Given the description of an element on the screen output the (x, y) to click on. 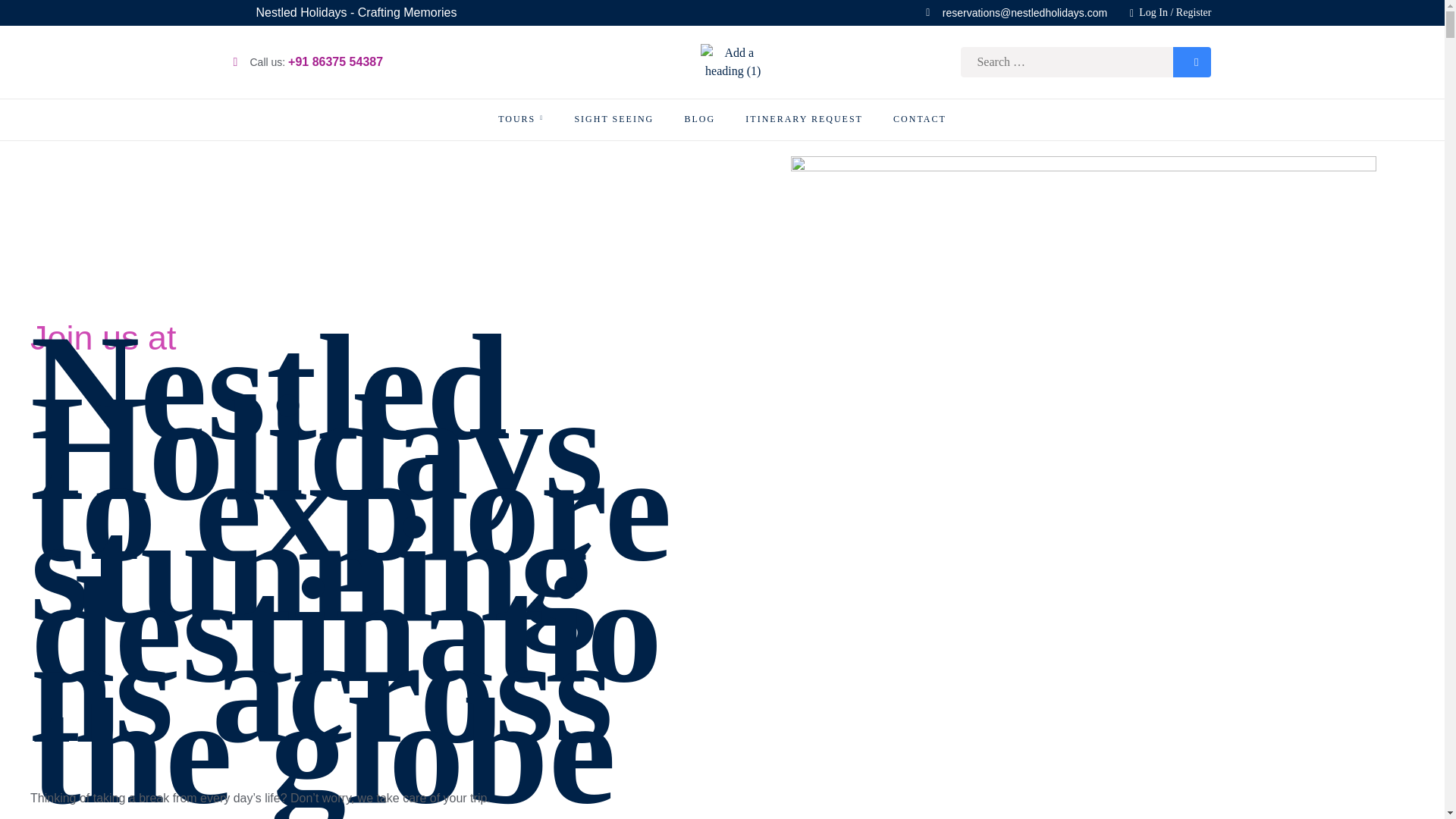
Search (1192, 61)
TOURS (520, 119)
Top (1420, 790)
CONTACT (919, 119)
ITINERARY REQUEST (804, 119)
1 (1139, 796)
SIGHT SEEING (613, 119)
